Given the description of an element on the screen output the (x, y) to click on. 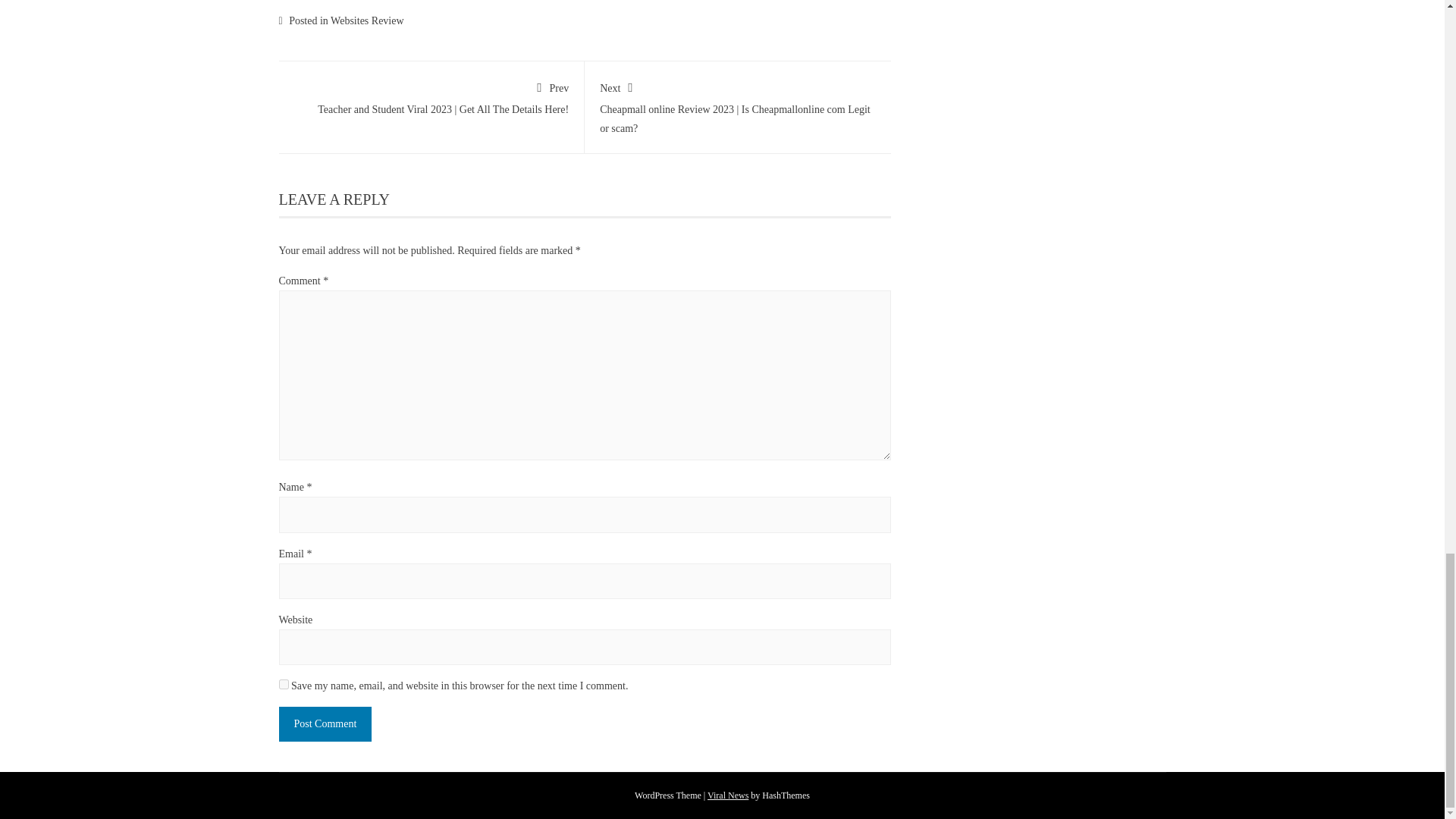
Post Comment (325, 723)
Post Comment (325, 723)
Websites Review (366, 20)
Viral News (727, 795)
Download Viral News (727, 795)
yes (283, 684)
